Given the description of an element on the screen output the (x, y) to click on. 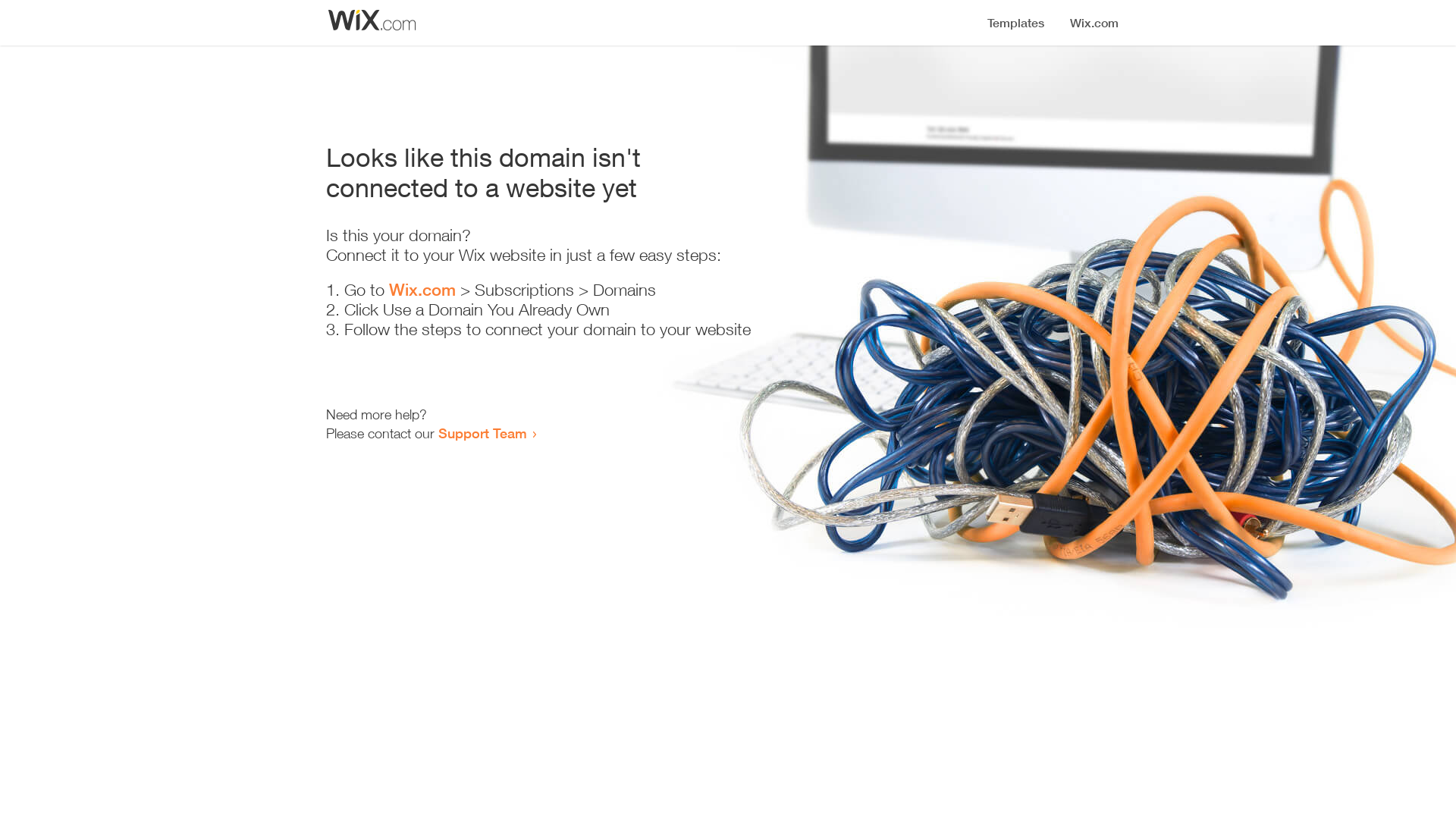
Support Team Element type: text (482, 432)
Wix.com Element type: text (422, 289)
